Given the description of an element on the screen output the (x, y) to click on. 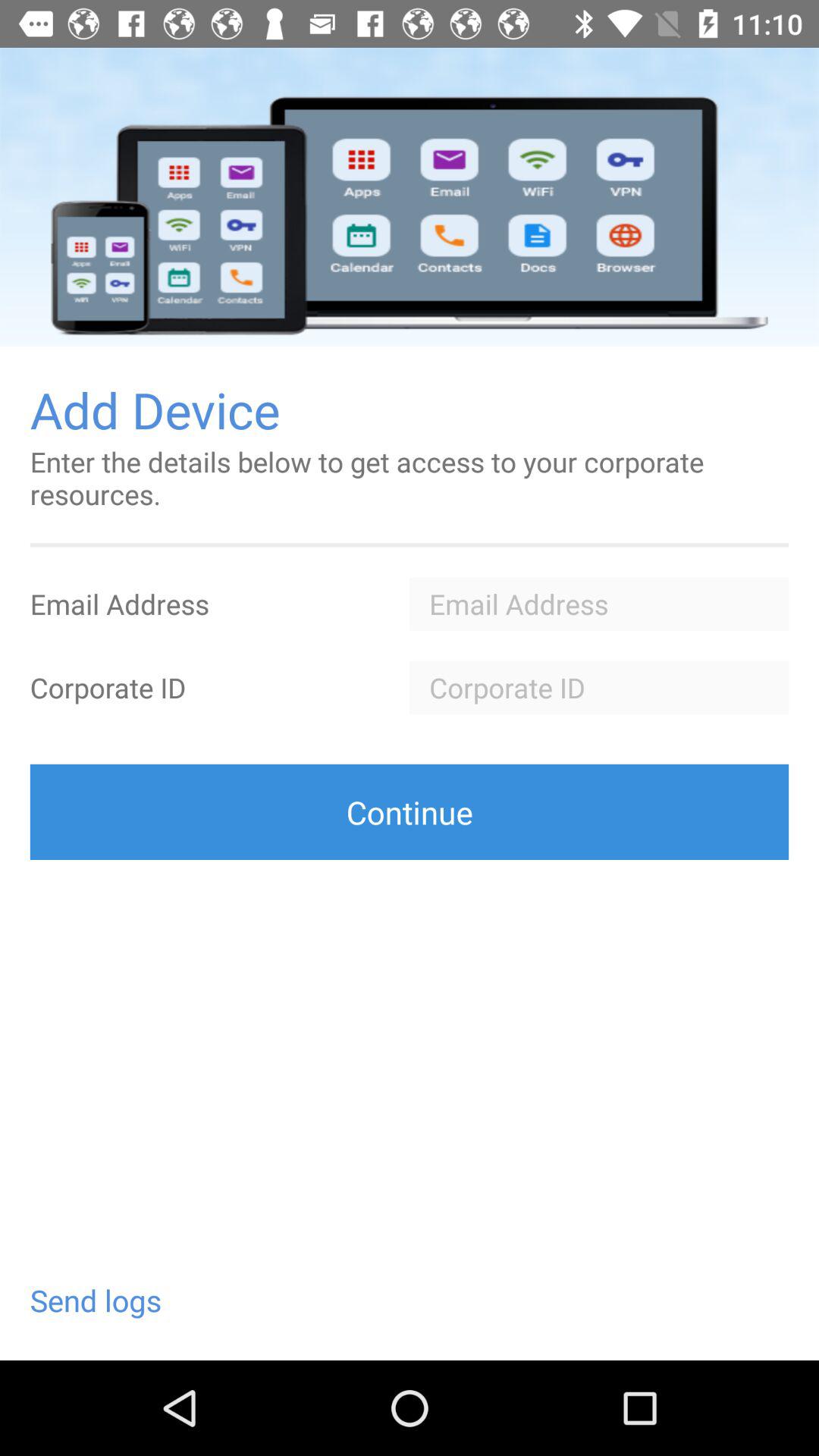
choose item below continue icon (95, 1300)
